Given the description of an element on the screen output the (x, y) to click on. 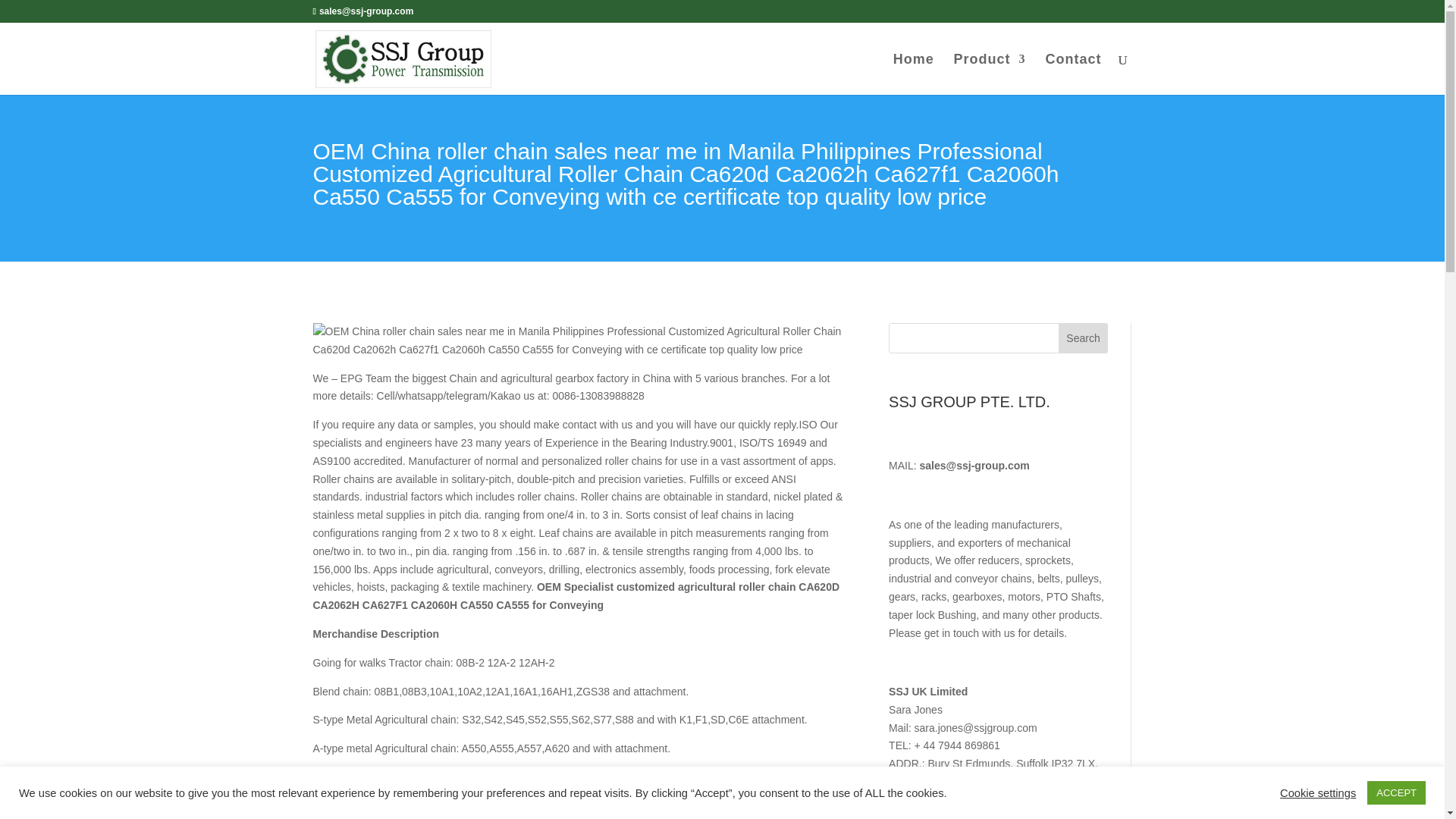
Search (1083, 337)
Product (989, 74)
Home (913, 74)
